Given the description of an element on the screen output the (x, y) to click on. 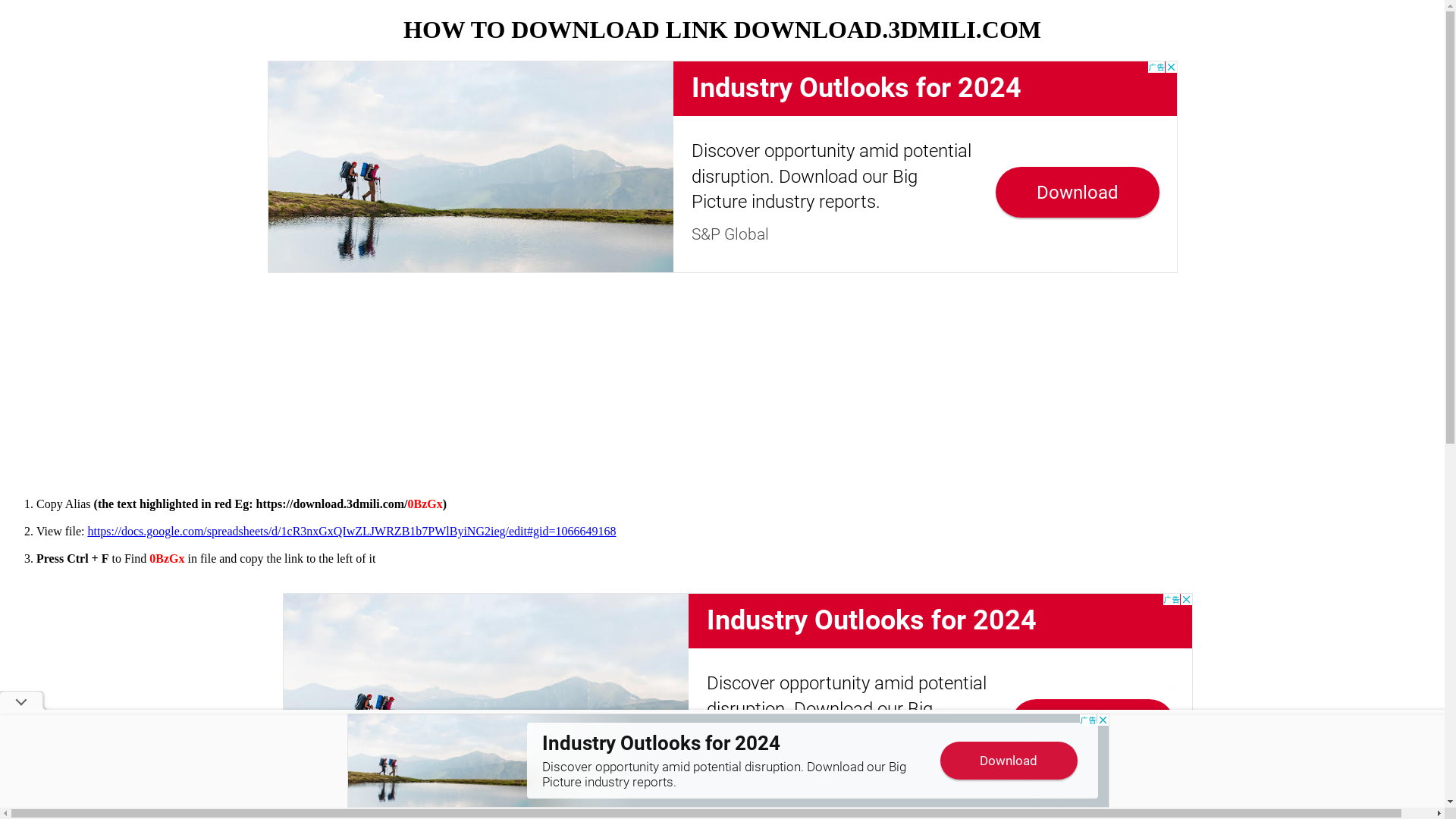
Advertisement Element type: hover (721, 166)
Advertisement Element type: hover (737, 699)
Advertisement Element type: hover (721, 379)
